Given the description of an element on the screen output the (x, y) to click on. 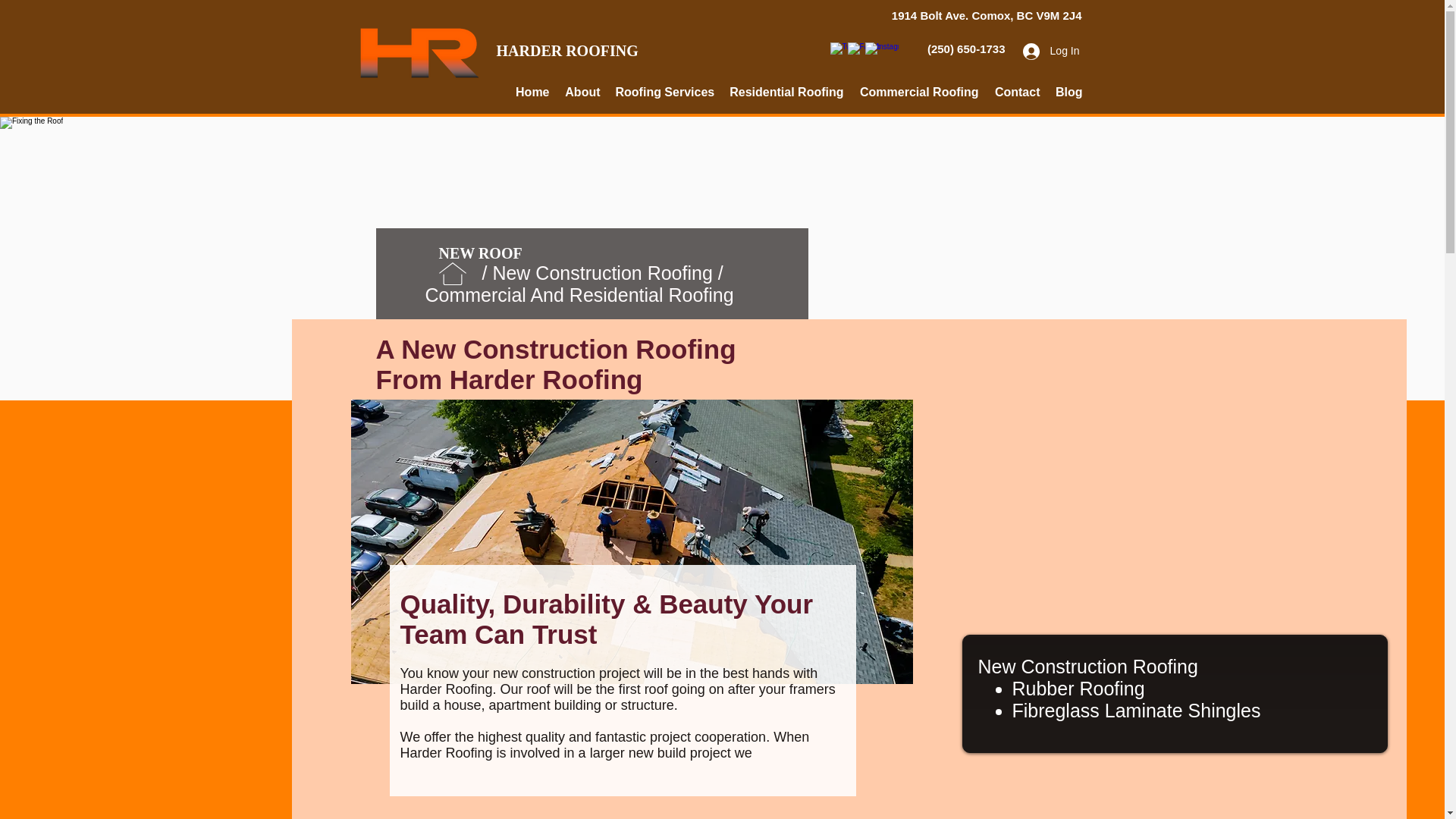
Contact (1015, 92)
Roofing Services (665, 92)
Residential Roofing (651, 294)
Fibreglass Laminate Shingles (1135, 711)
Commercial Roofing (917, 92)
Residential Roofing (786, 92)
New Construction Roofing (1088, 666)
About (581, 92)
Home (531, 92)
Log In (1050, 50)
Rubber Roofing (1077, 688)
Blog (1069, 92)
